Given the description of an element on the screen output the (x, y) to click on. 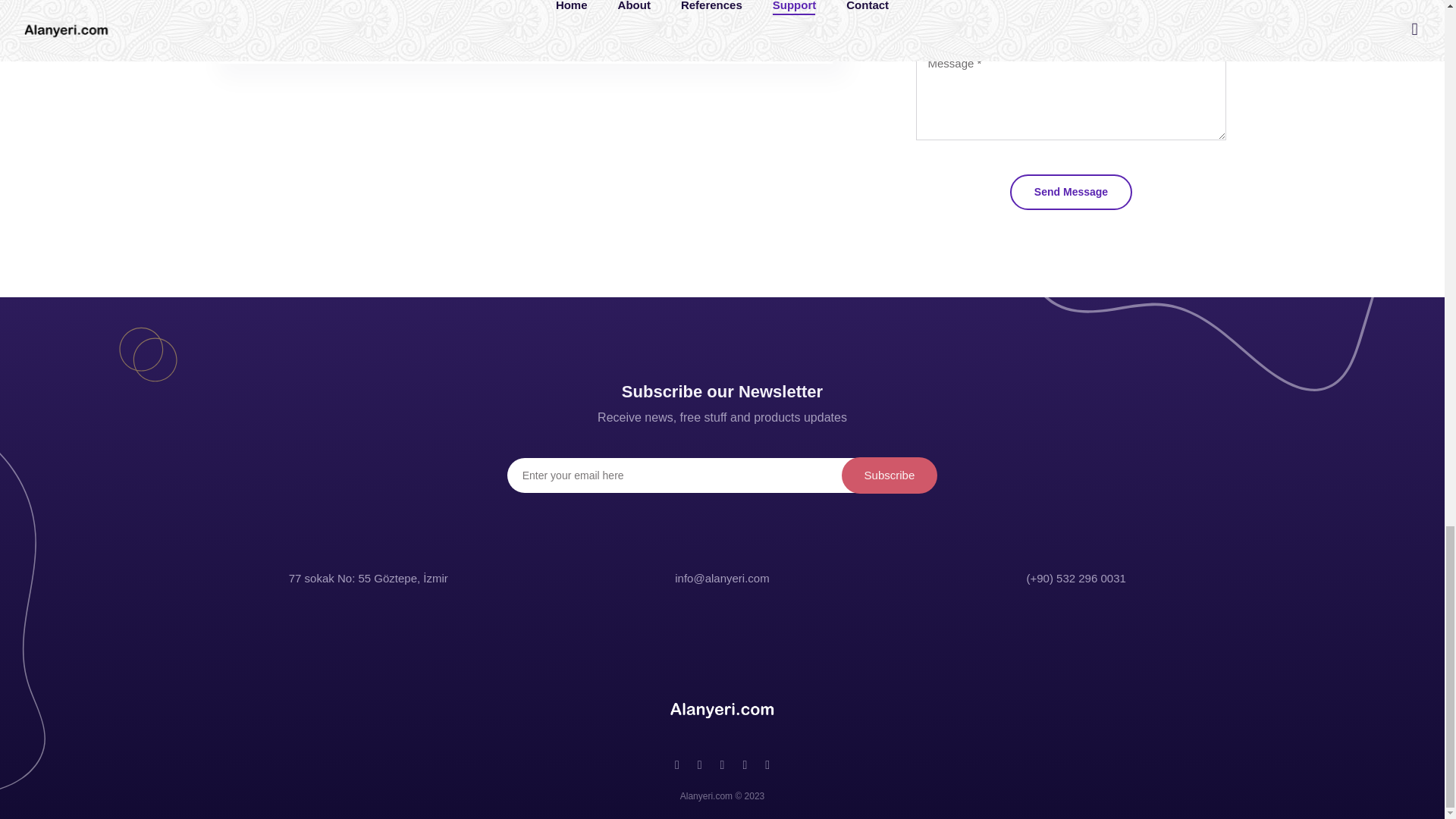
Subscribe (889, 475)
Subscribe (889, 475)
Send Message (1071, 192)
Send Message (1071, 192)
